Given the description of an element on the screen output the (x, y) to click on. 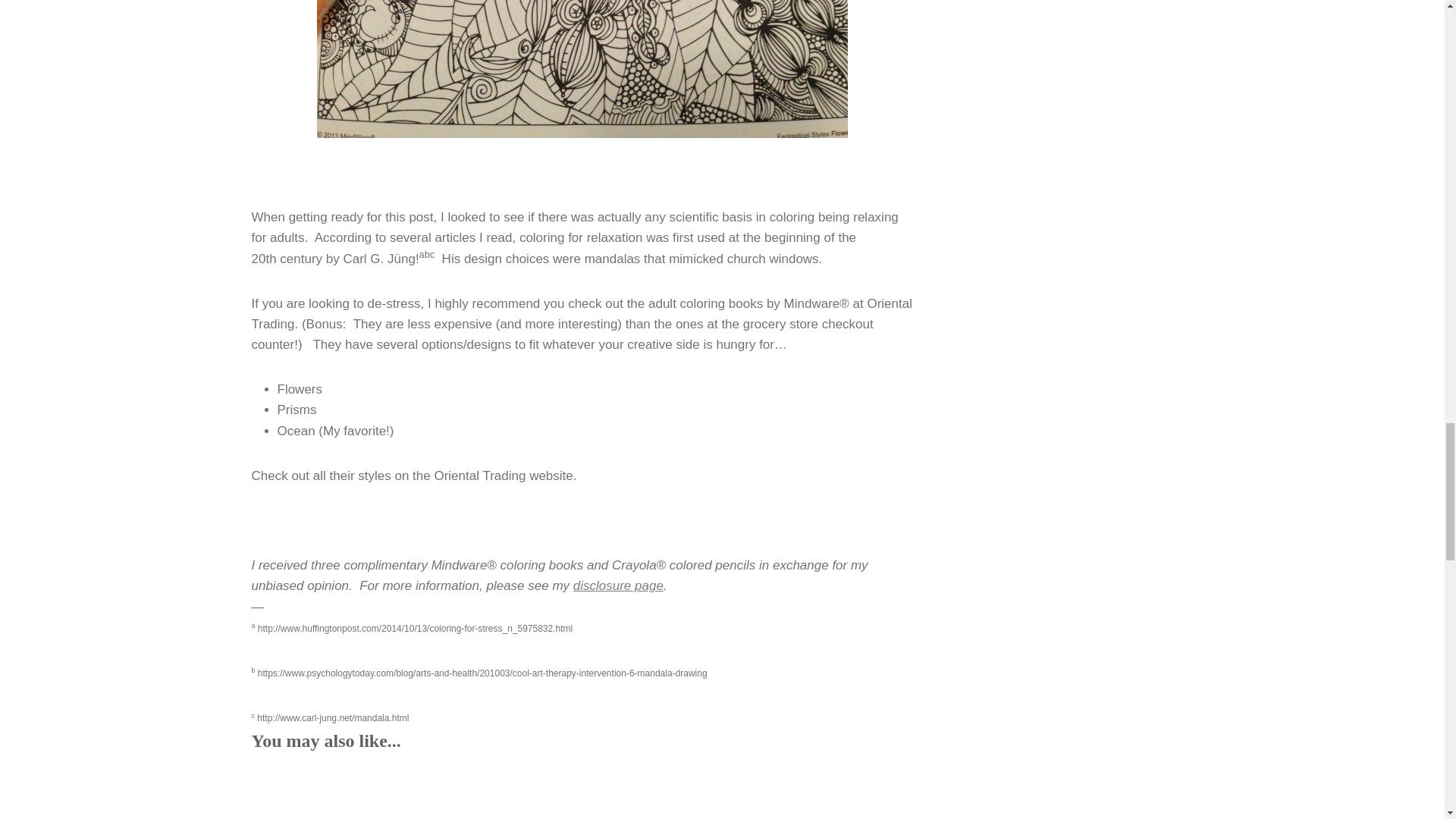
Disclosure (618, 585)
The Songs That Could Have Been Book Review (331, 791)
disclosure page (618, 585)
Nottadog Cafe - a Hidden Gem in the Square (810, 791)
Shadows in the Mind's Eye Book Review (652, 791)
Midnight's Budding Morrow Book Review (491, 791)
